Given the description of an element on the screen output the (x, y) to click on. 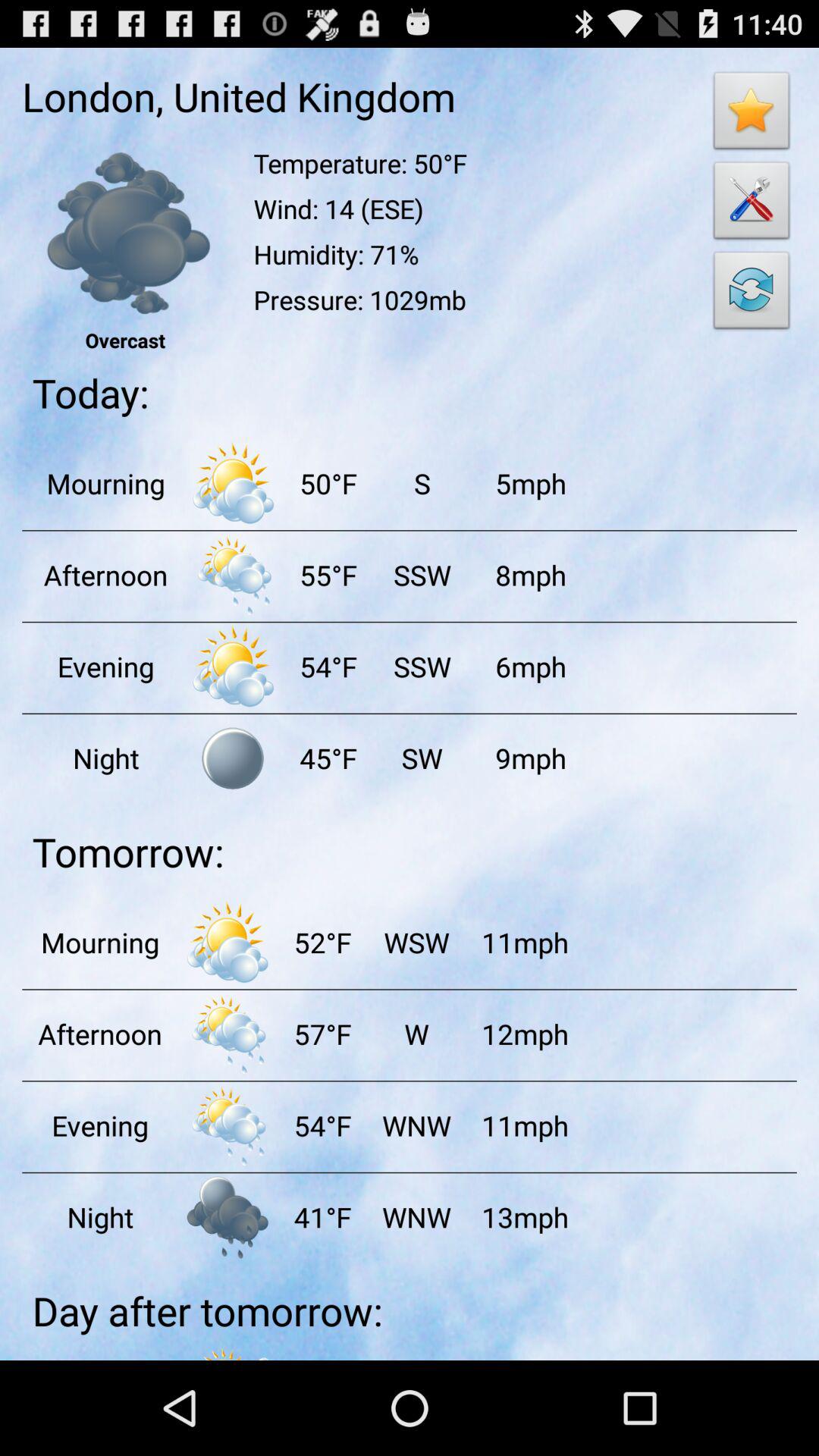
overcast (124, 232)
